Given the description of an element on the screen output the (x, y) to click on. 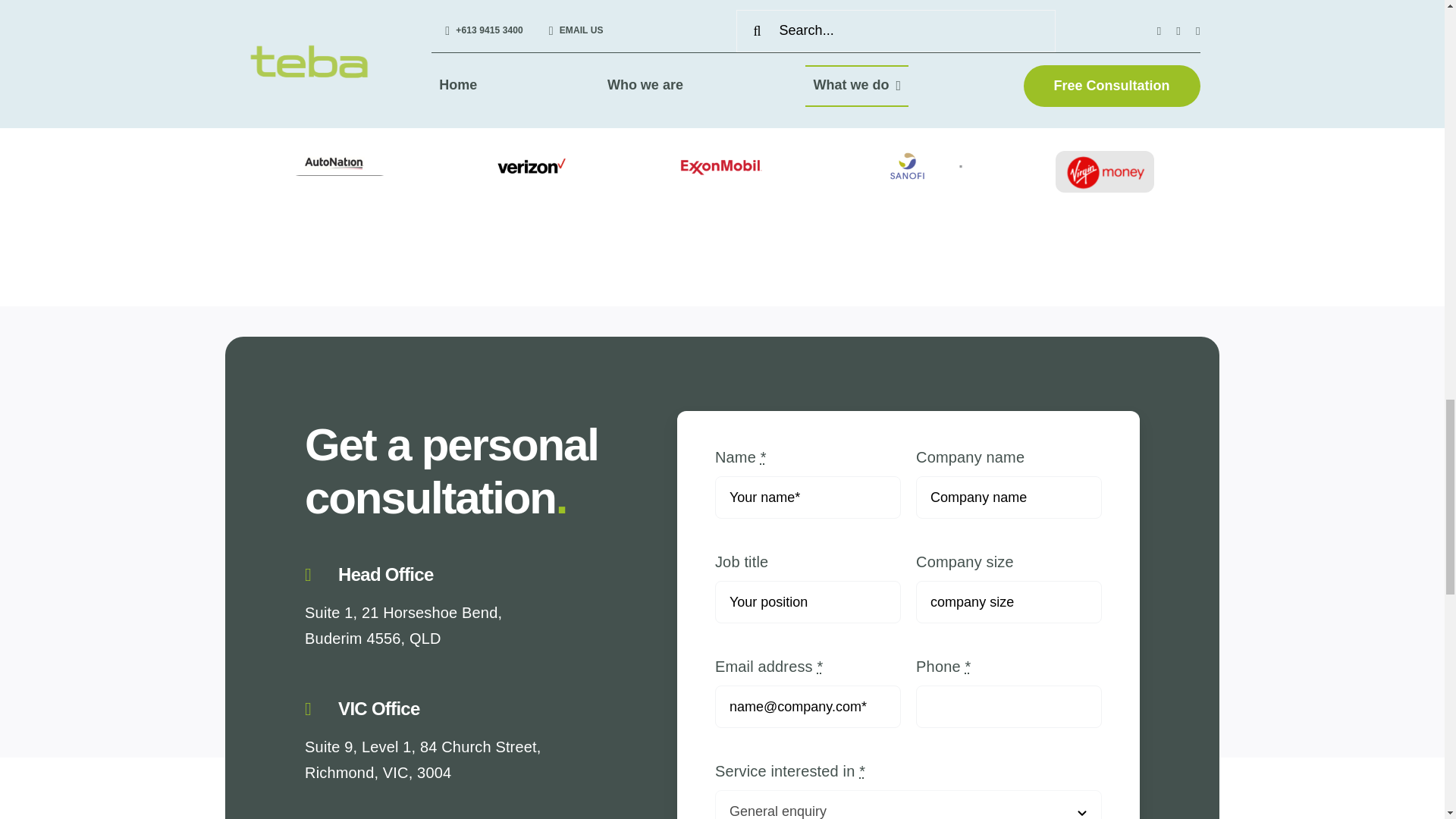
c-logo-strip (338, 163)
c-logo-strip (721, 165)
Screenshot 2024-03-21 103309 (1104, 171)
c-logo-strip (913, 165)
c-logo-strip (530, 165)
